Given the description of an element on the screen output the (x, y) to click on. 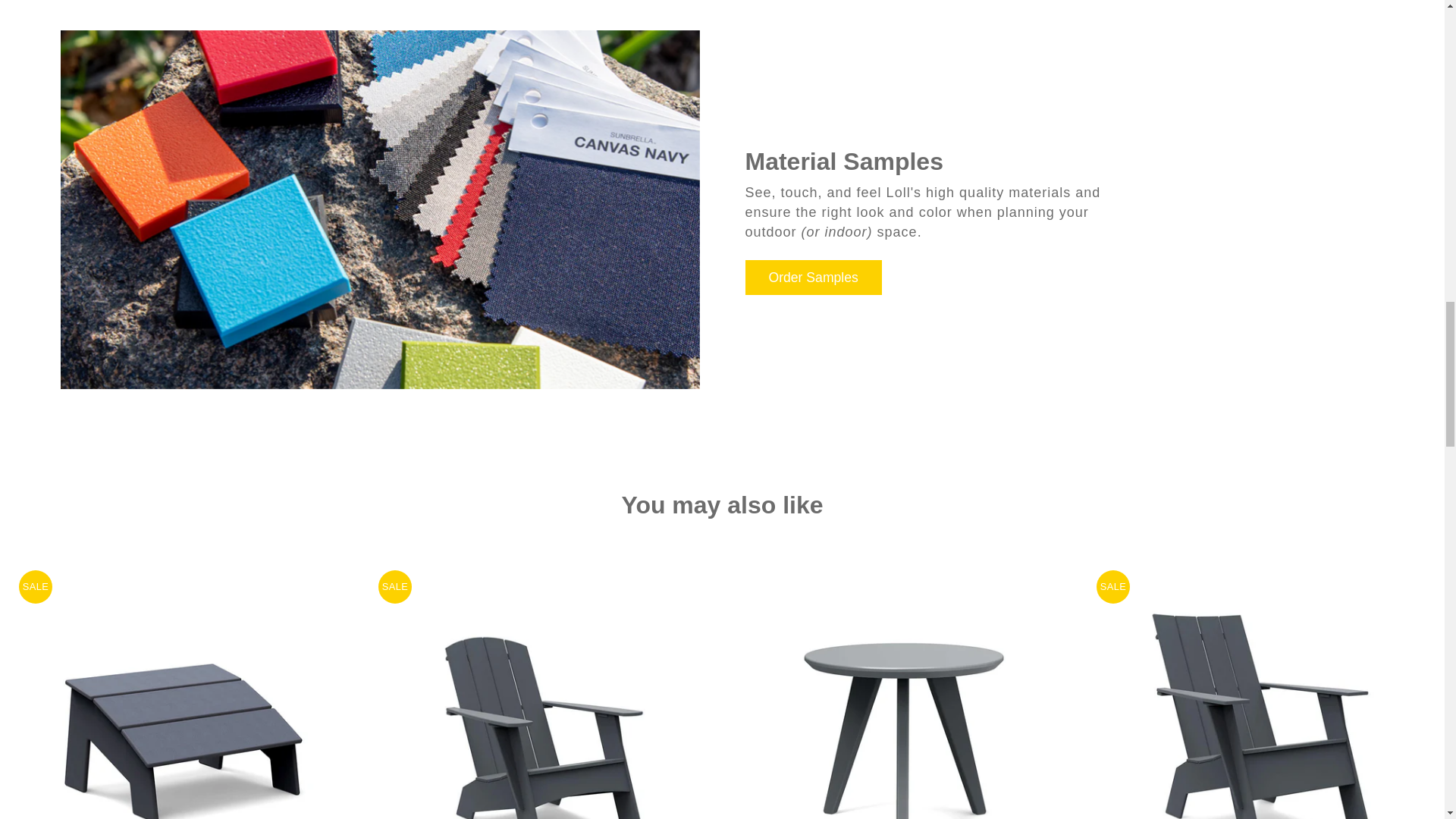
Ottoman (183, 688)
